Given the description of an element on the screen output the (x, y) to click on. 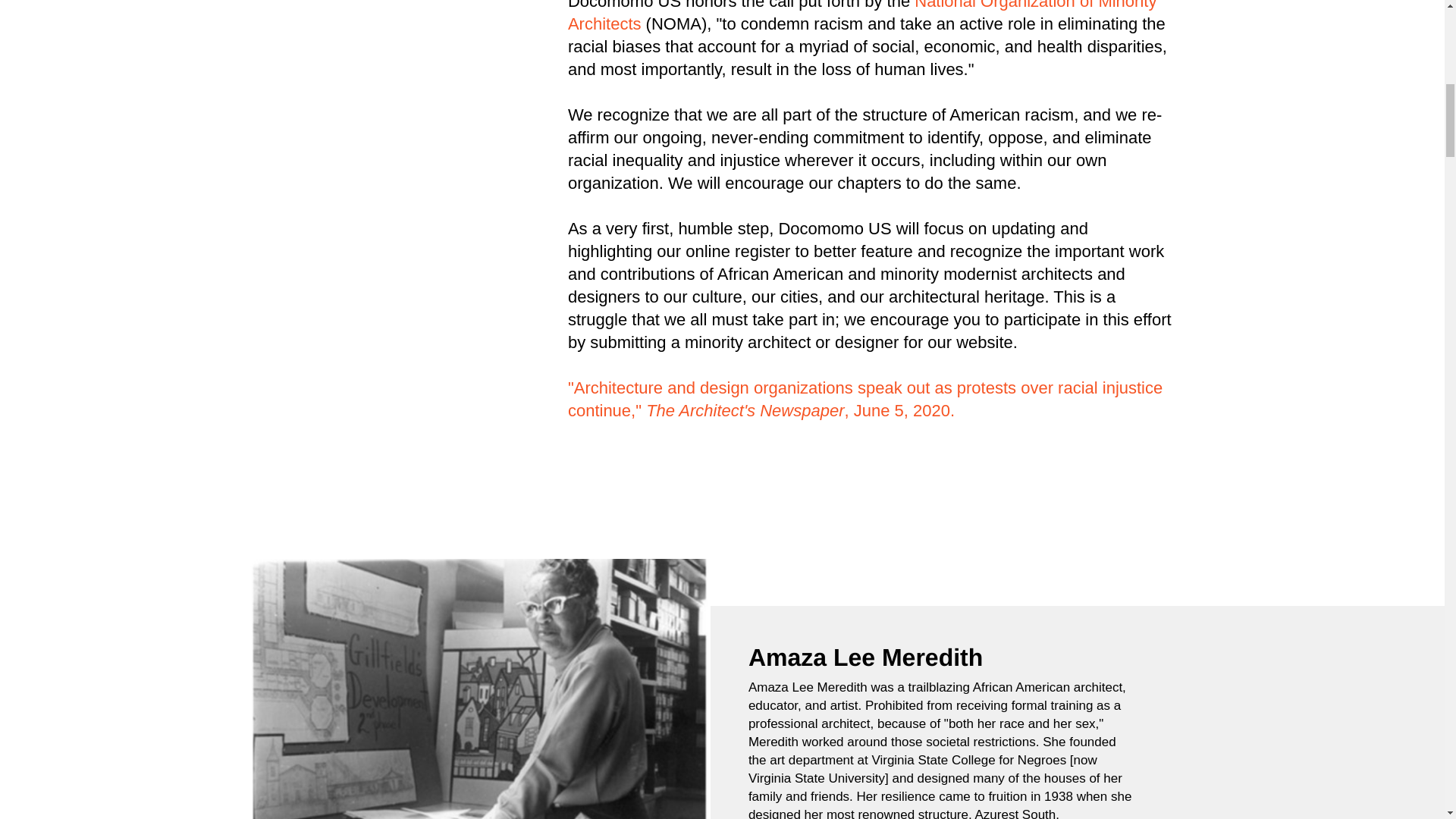
, June 5, 2020.  (901, 410)
National Organization of Minority Architects (862, 16)
The Architect's Newspaper (745, 410)
